Given the description of an element on the screen output the (x, y) to click on. 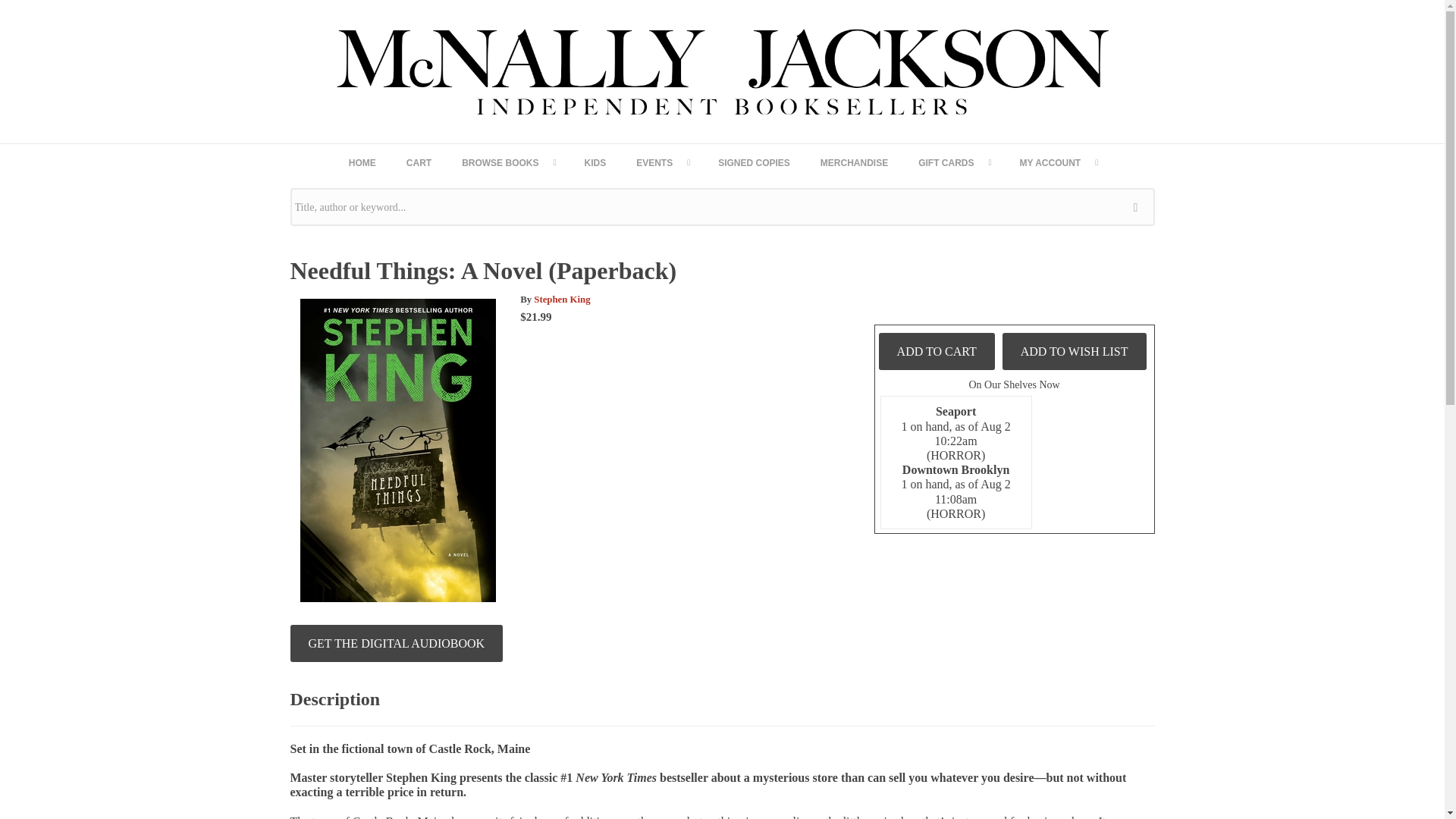
MERCHANDISE (853, 162)
SIGNED COPIES (754, 162)
BROWSE BOOKS (507, 162)
Get the Digital Audiobook (395, 642)
MY ACCOUNT (1058, 162)
Add to Cart (936, 351)
GIFT CARDS (953, 162)
HOME (362, 162)
KIDS (595, 162)
Title, author or keyword... (721, 207)
Stephen King (561, 299)
Get the Digital Audiobook (395, 642)
ADD TO WISH LIST (1075, 351)
CART (418, 162)
